Given the description of an element on the screen output the (x, y) to click on. 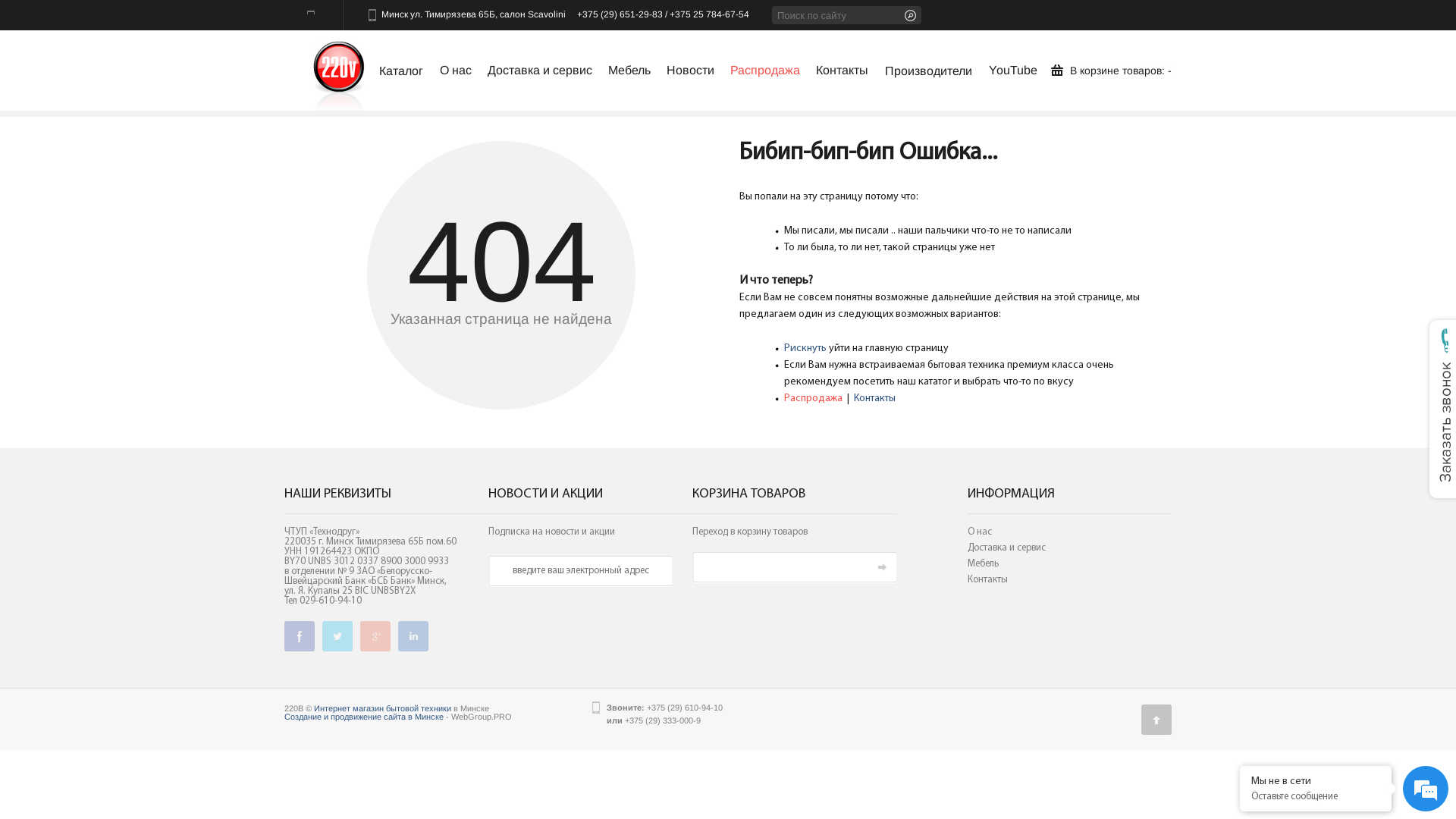
YouTube Element type: text (1012, 72)
